Given the description of an element on the screen output the (x, y) to click on. 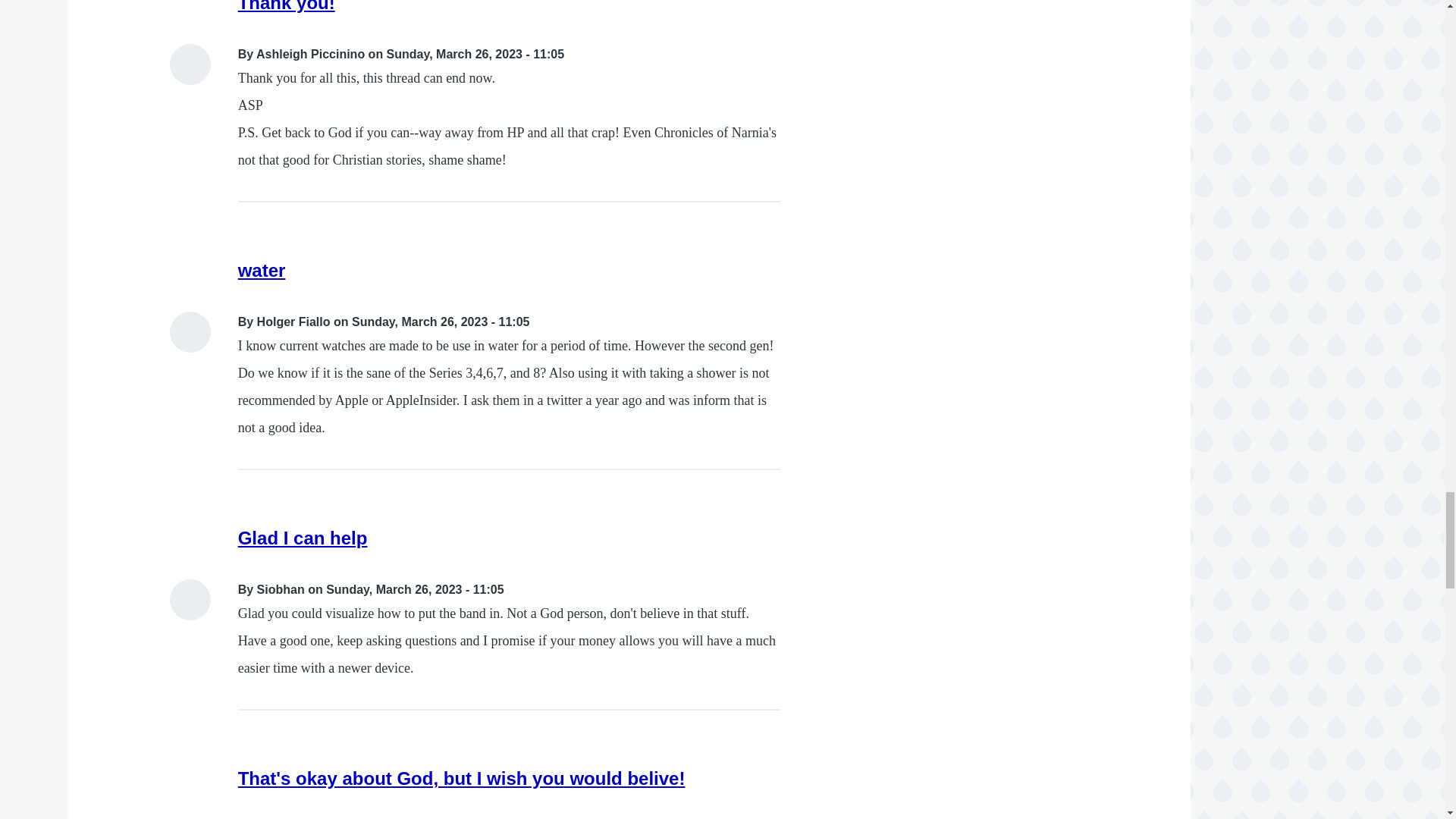
Glad I can help (303, 537)
That's okay about God, but I wish you would belive! (461, 778)
water (261, 270)
Thank you! (286, 6)
